Given the description of an element on the screen output the (x, y) to click on. 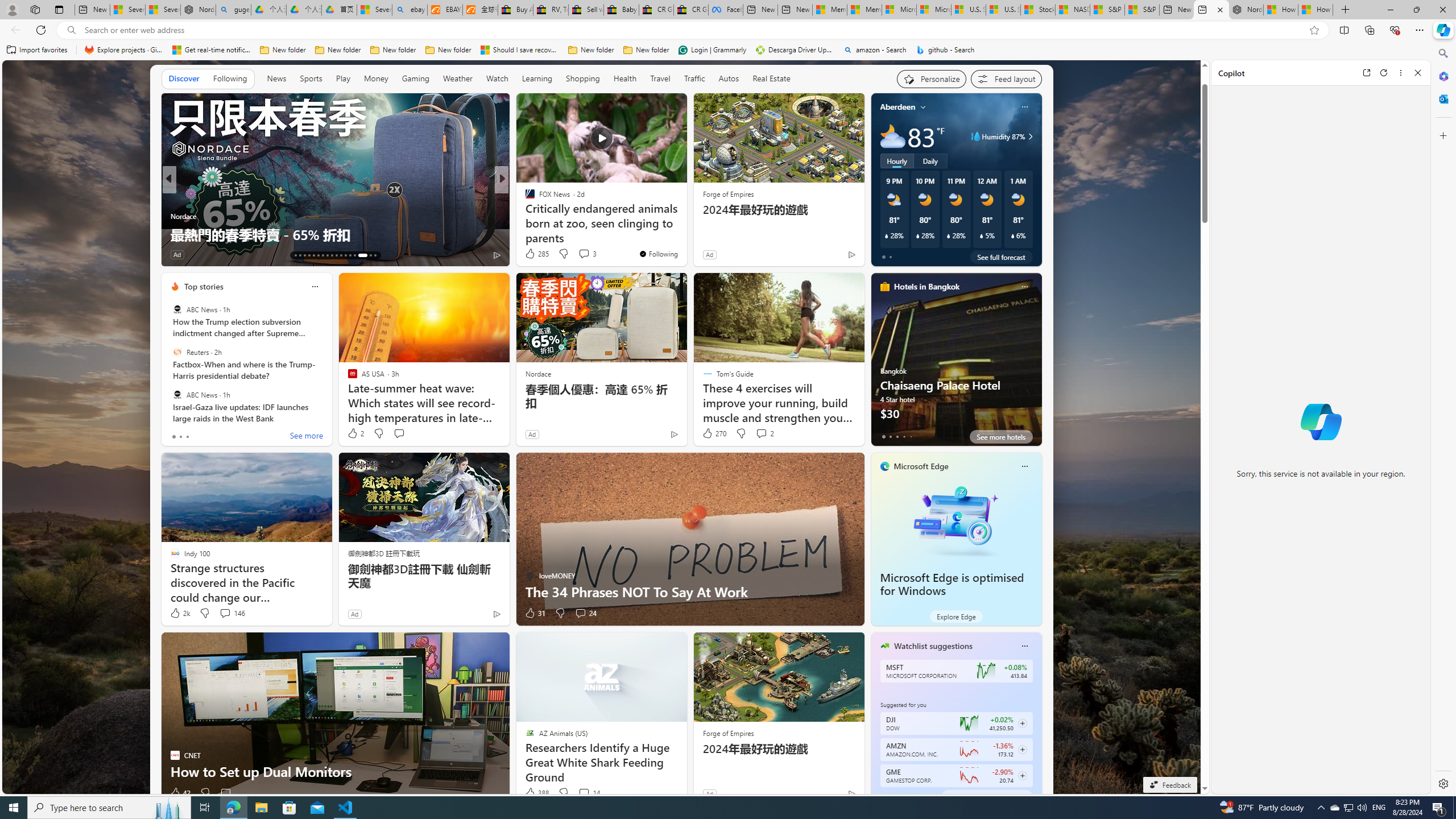
Sports (310, 78)
388 Like (536, 792)
Outlook (1442, 98)
More options (1401, 72)
Komando (524, 215)
Copilot (Ctrl+Shift+.) (1442, 29)
ebay - Search (409, 9)
AutomationID: tab-16 (309, 255)
hotels-header-icon (884, 286)
